Given the description of an element on the screen output the (x, y) to click on. 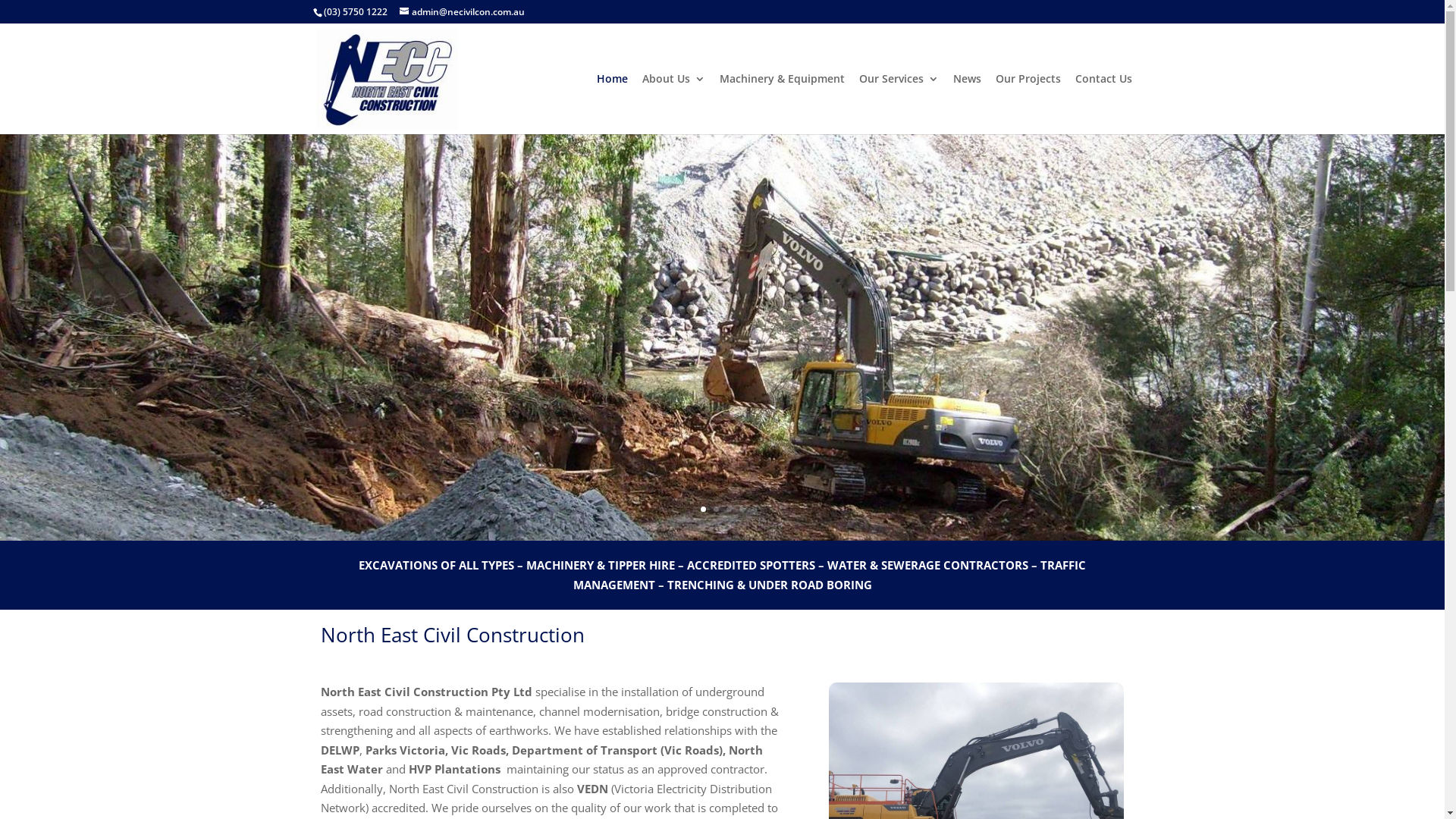
About Us Element type: text (672, 103)
4 Element type: text (740, 508)
Home Element type: text (611, 103)
1 Element type: text (703, 508)
Machinery & Equipment Element type: text (781, 103)
Our Services Element type: text (898, 103)
(03) 5750 1222 Element type: text (354, 11)
admin@necivilcon.com.au Element type: text (461, 11)
3 Element type: text (728, 508)
2 Element type: text (715, 508)
Our Projects Element type: text (1027, 103)
News Element type: text (966, 103)
Contact Us Element type: text (1103, 103)
